Given the description of an element on the screen output the (x, y) to click on. 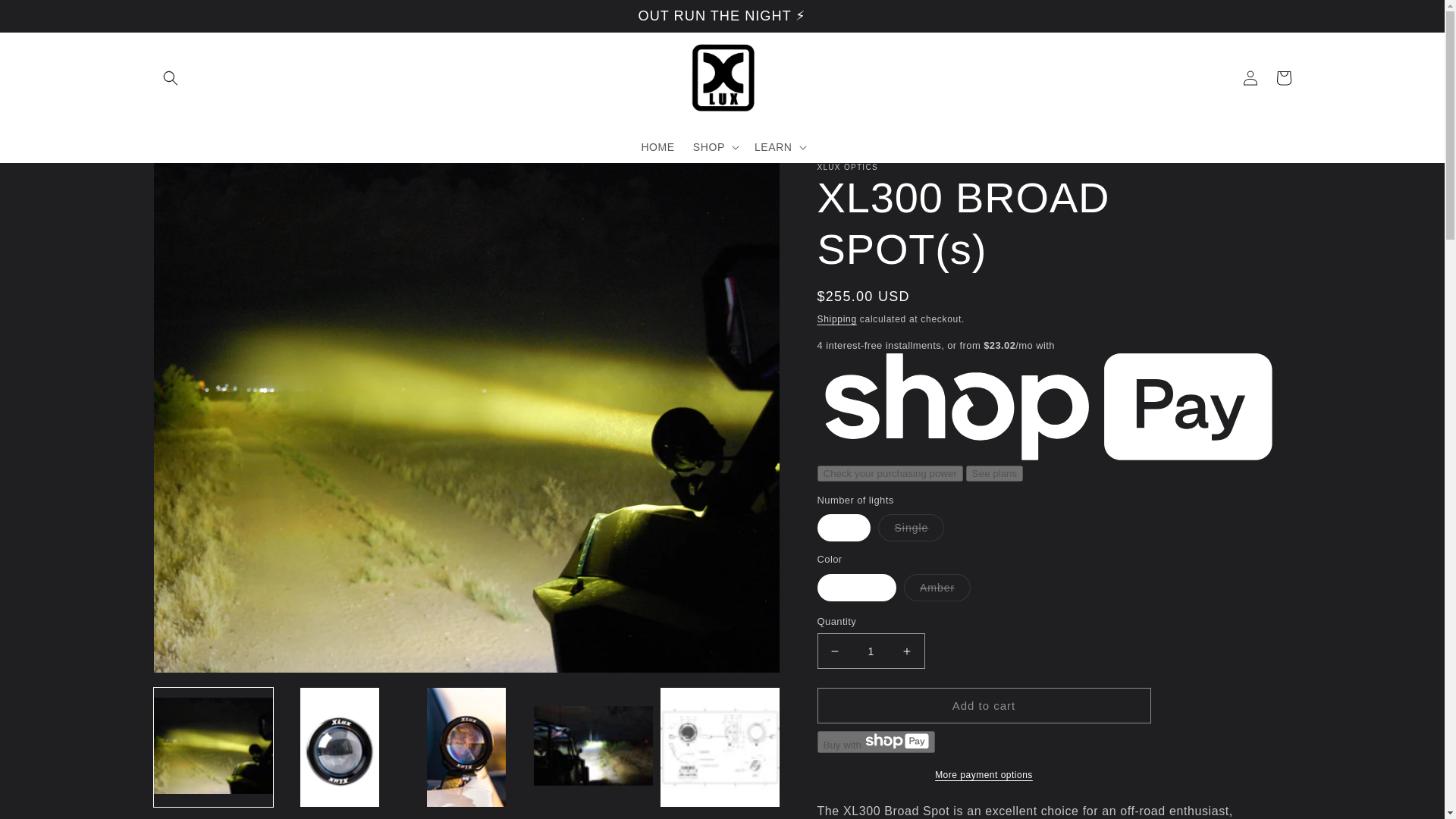
Cart (1283, 78)
Skip to product information (199, 180)
Log in (1249, 78)
Skip to content (45, 17)
1 (870, 651)
HOME (656, 146)
